Given the description of an element on the screen output the (x, y) to click on. 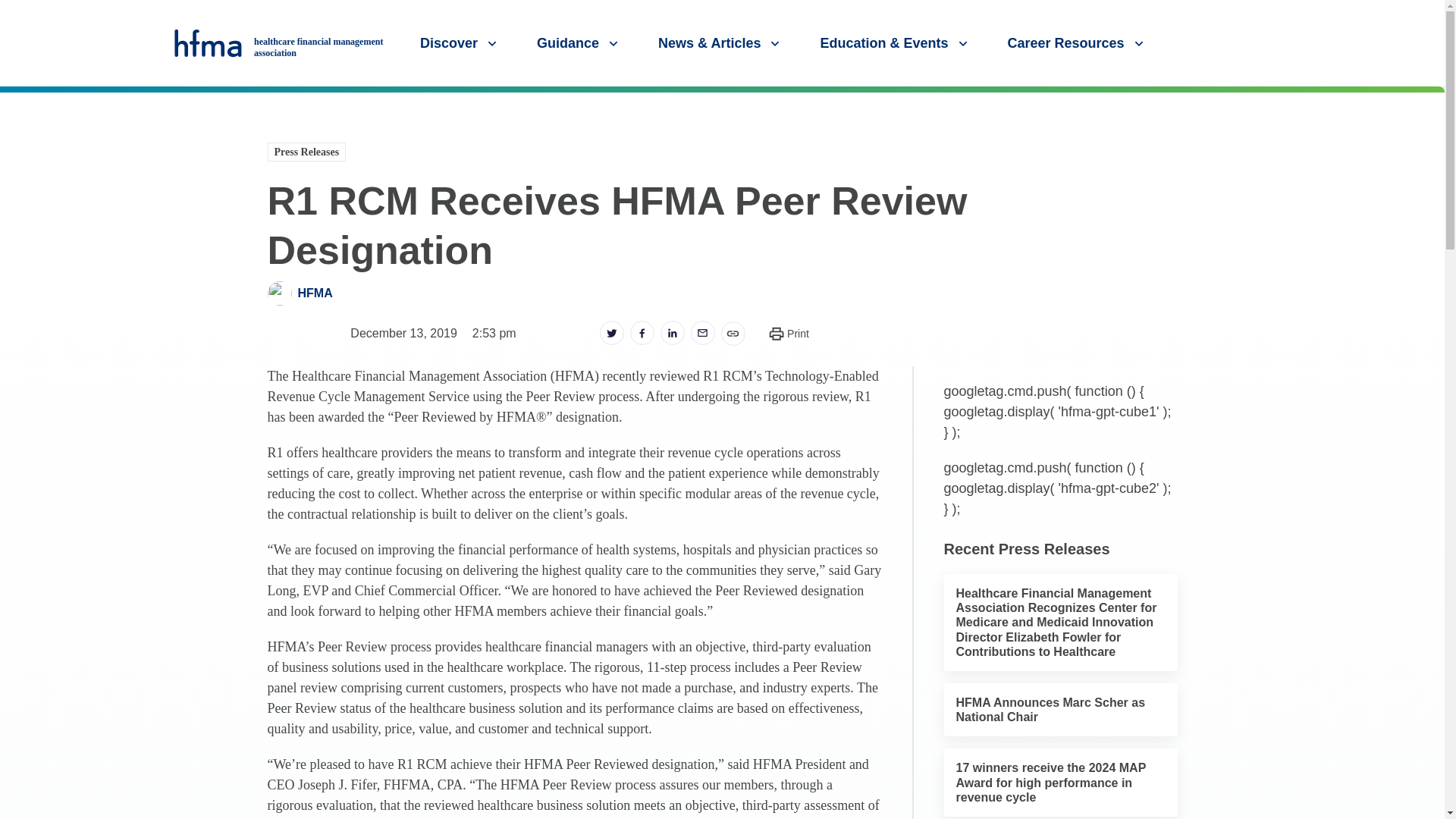
Click to share on Facebook (640, 332)
Discover (460, 42)
Guidance (579, 42)
Click to email a link to a friend (702, 332)
Career Resources (1077, 42)
Submit (1427, 101)
Click to share on Twitter (610, 332)
Click to share on LinkedIn (671, 332)
